Given the description of an element on the screen output the (x, y) to click on. 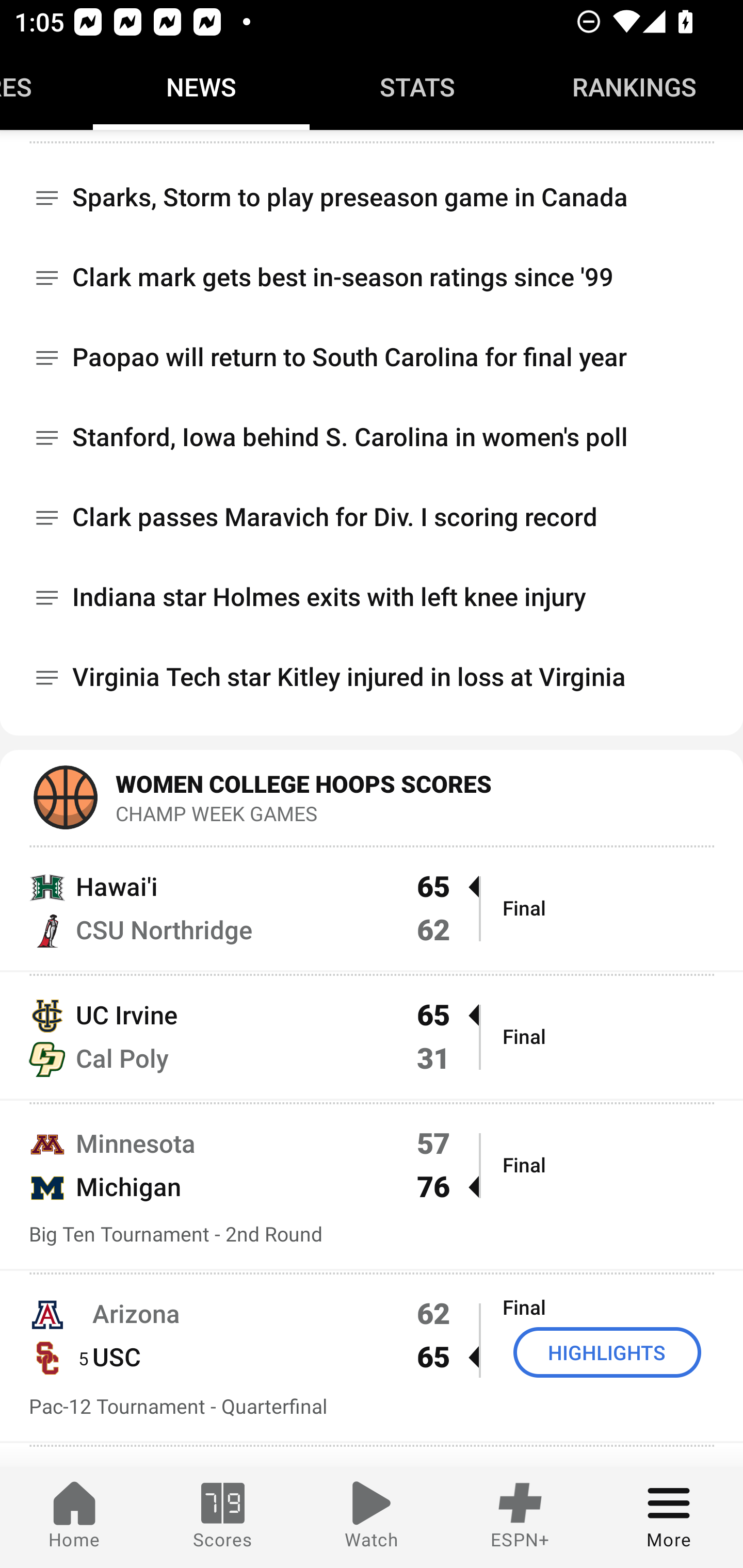
Stats STATS (417, 86)
Rankings RANKINGS (634, 86)
 Sparks, Storm to play preseason game in Canada (371, 190)
 Clark mark gets best in-season ratings since '99 (371, 278)
 Clark passes Maravich for Div. I scoring record (371, 518)
 Indiana star Holmes exits with left knee injury (371, 598)
Hawai'i 65  CSU Northridge 62 Final (371, 906)
UC Irvine 65  Cal Poly 31 Final (371, 1035)
HIGHLIGHTS (607, 1352)
Home (74, 1517)
Scores (222, 1517)
Watch (371, 1517)
ESPN+ (519, 1517)
